Given the description of an element on the screen output the (x, y) to click on. 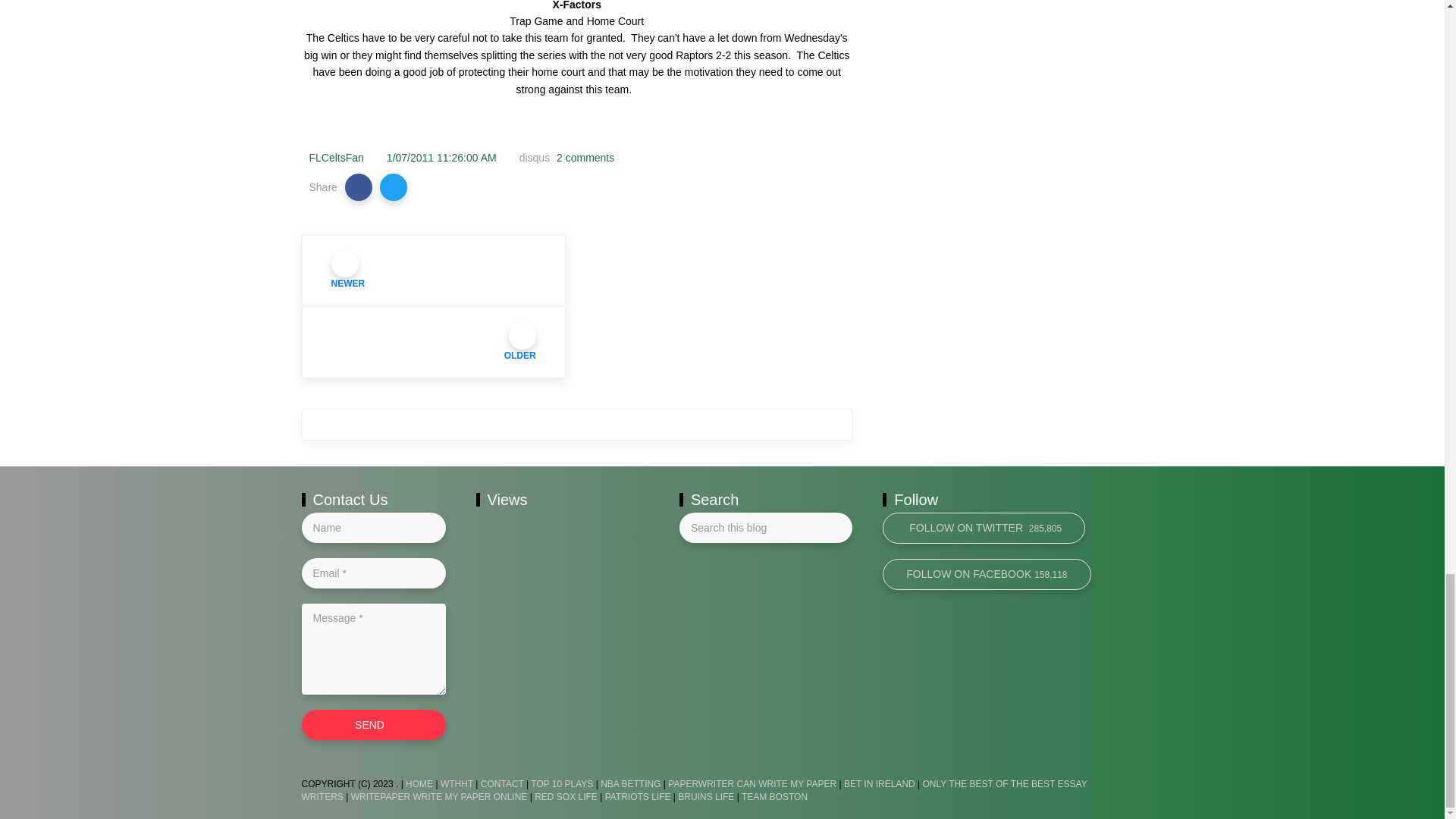
author profile (336, 157)
Share to Facebook (358, 186)
2 comments (583, 157)
permanent link (441, 157)
OLDER (433, 342)
NEWER (433, 270)
Share to Twitter (393, 186)
FLCeltsFan (336, 157)
